Given the description of an element on the screen output the (x, y) to click on. 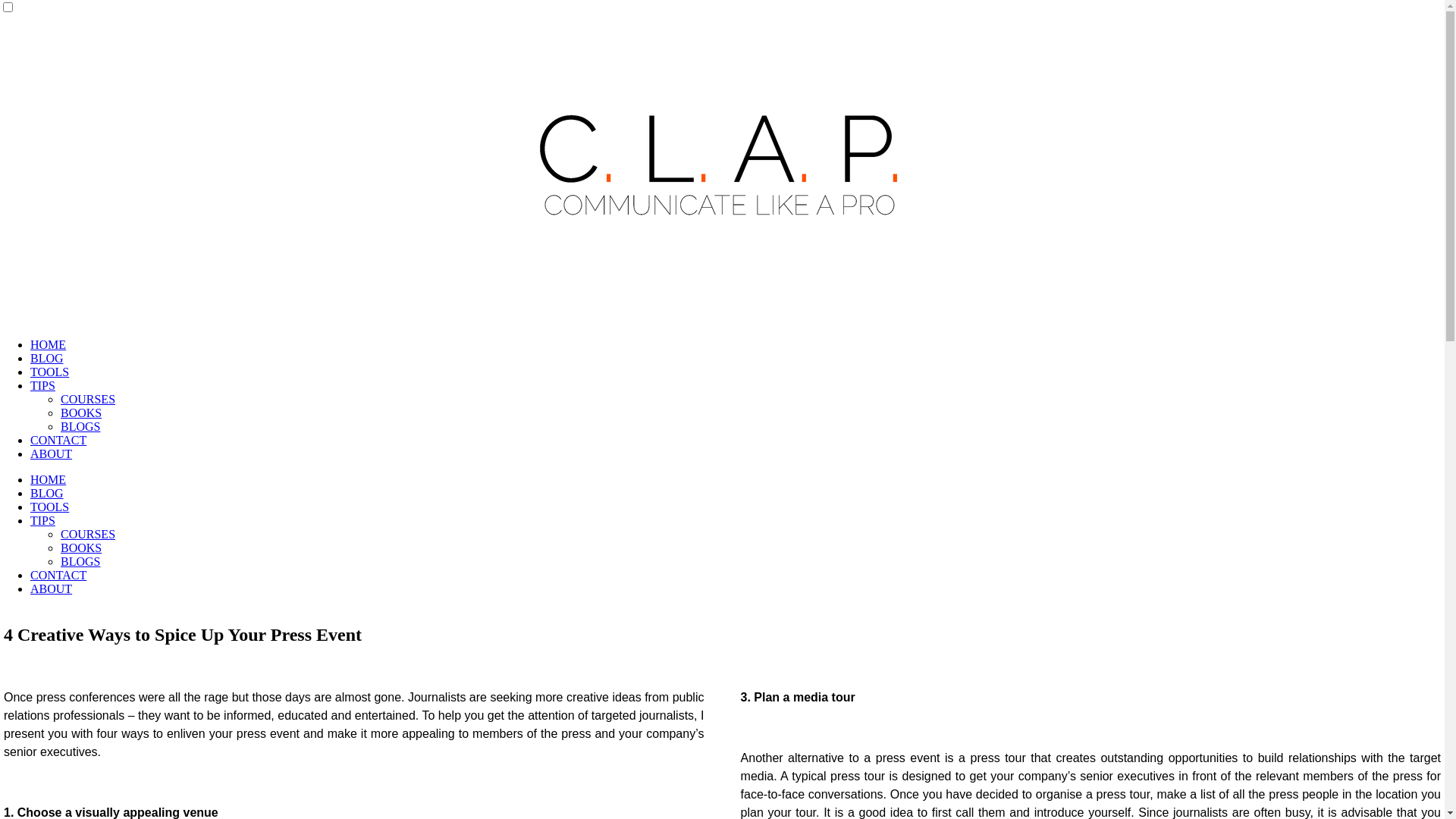
CONTACT Element type: text (58, 439)
HOME Element type: text (47, 479)
BLOG Element type: text (46, 492)
TIPS Element type: text (42, 520)
BLOGS Element type: text (80, 561)
COURSES Element type: text (87, 533)
BOOKS Element type: text (80, 412)
ABOUT Element type: text (51, 453)
BLOG Element type: text (46, 357)
TIPS Element type: text (42, 385)
HOME Element type: text (47, 344)
ABOUT Element type: text (51, 588)
TOOLS Element type: text (49, 506)
BLOGS Element type: text (80, 426)
COURSES Element type: text (87, 398)
BOOKS Element type: text (80, 547)
TOOLS Element type: text (49, 371)
CONTACT Element type: text (58, 574)
